Given the description of an element on the screen output the (x, y) to click on. 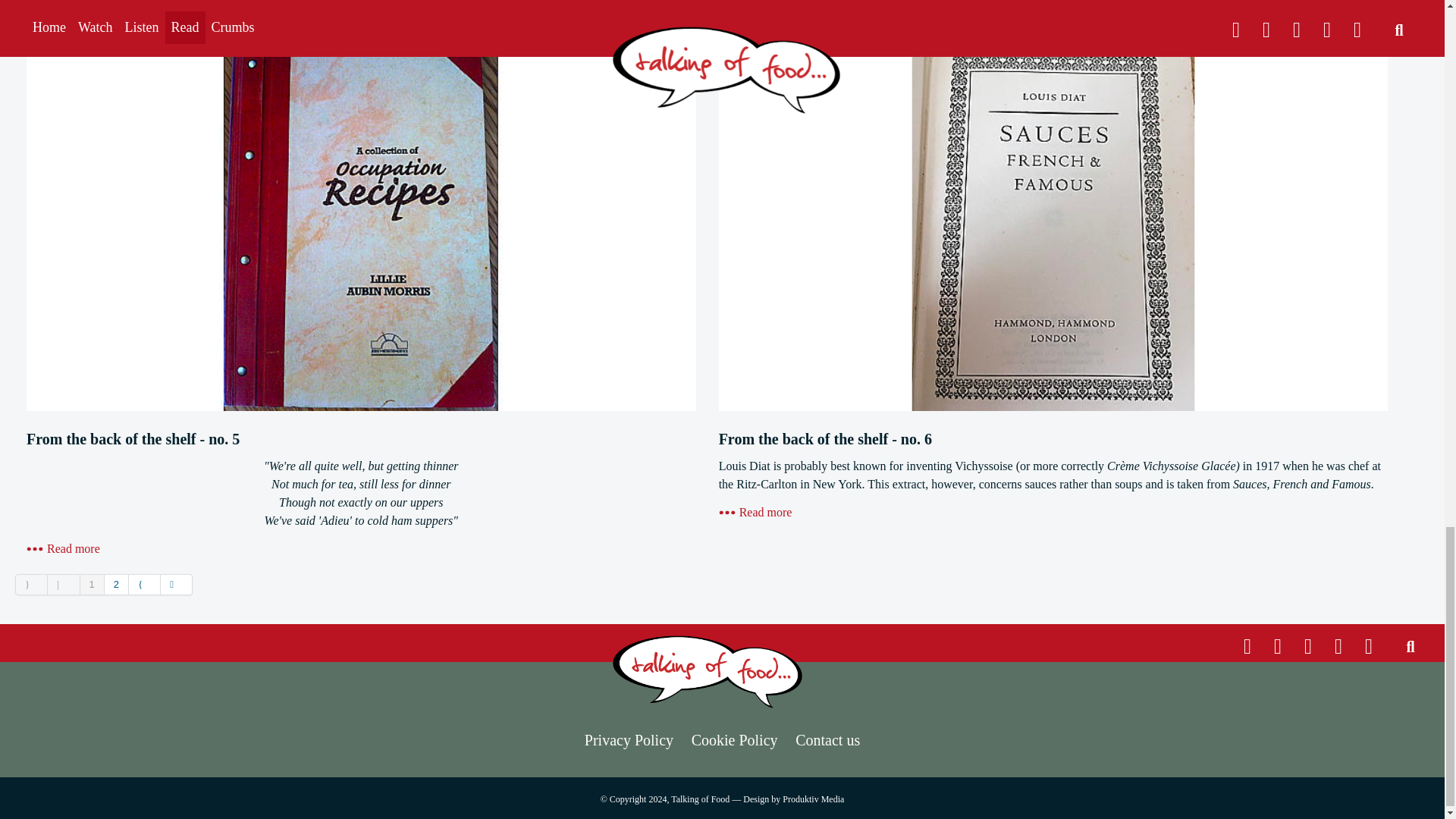
From the back of the shelf - no. 3 (63, 3)
From the back of the shelf - no. 6 (755, 512)
Next (144, 584)
End (176, 584)
2 (116, 584)
From the back of the shelf - no. 5 (63, 548)
